Given the description of an element on the screen output the (x, y) to click on. 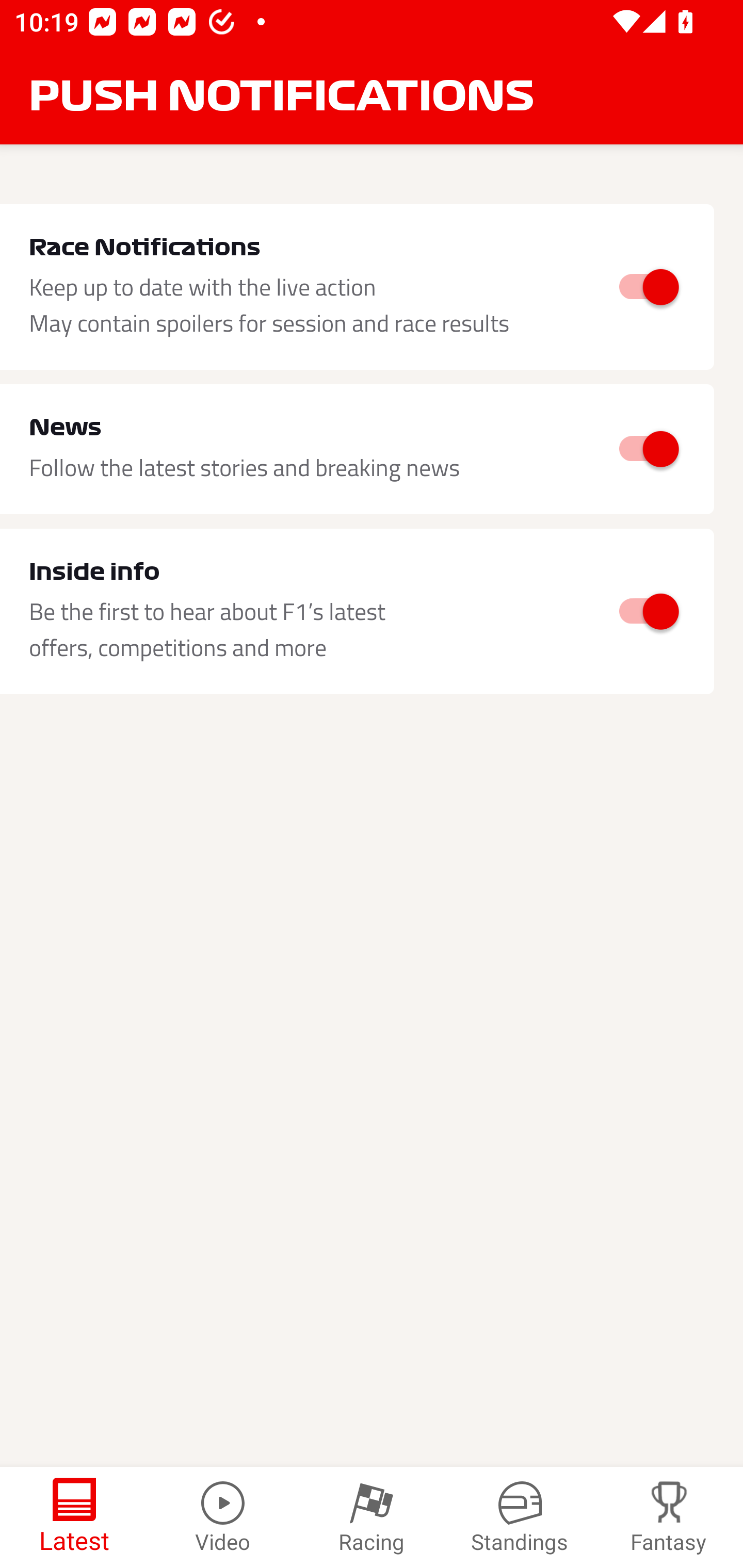
Video (222, 1517)
Racing (371, 1517)
Standings (519, 1517)
Fantasy (668, 1517)
